Given the description of an element on the screen output the (x, y) to click on. 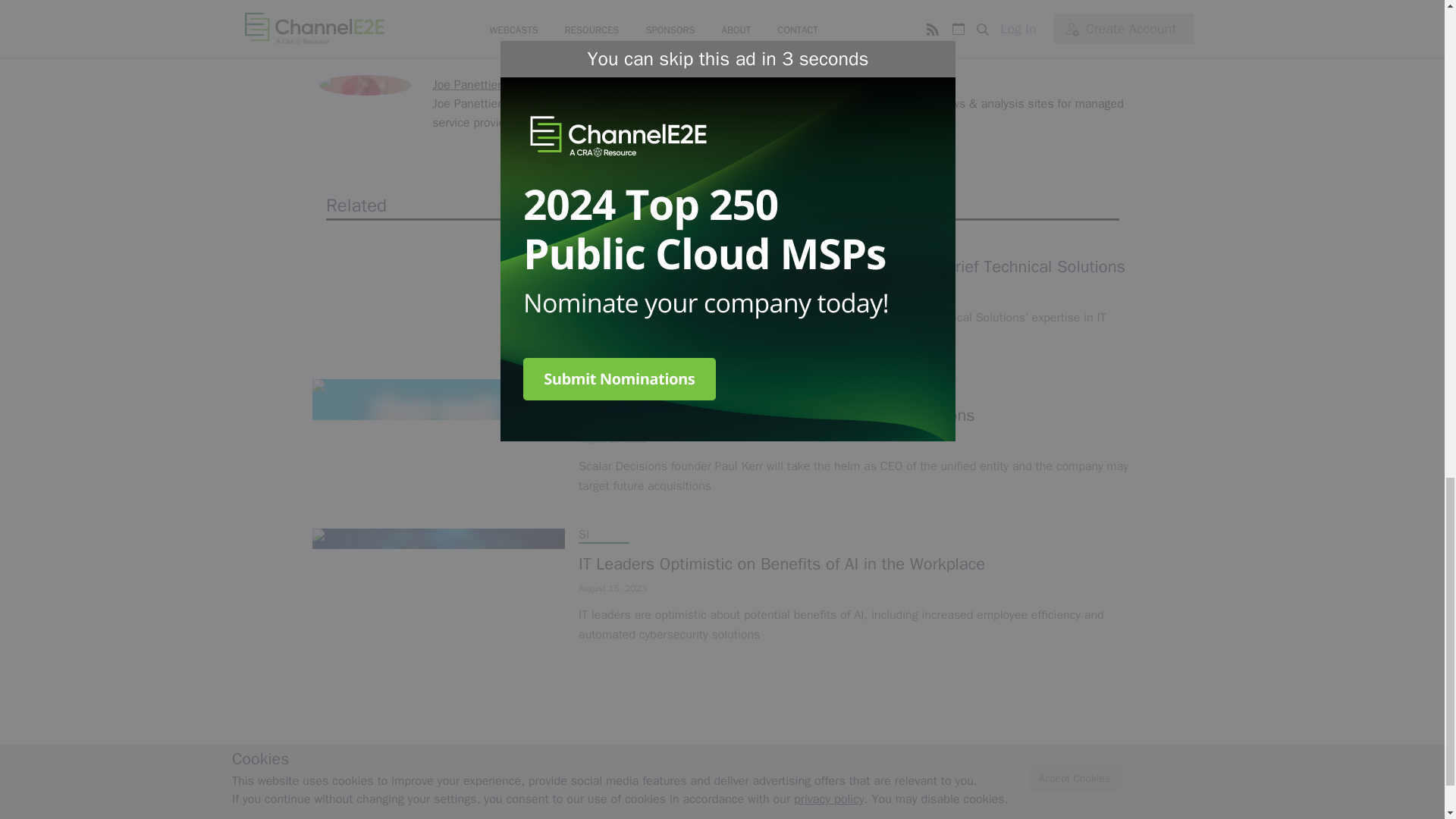
Joe Panettieri (467, 84)
Gallant Capital Partners Unifies DynTek and rSolutions (855, 415)
Accenture has acquired seven Salesforce partners (723, 21)
MERGERS AND ACQUISITIONS (658, 385)
IT Leaders Optimistic on Benefits of AI in the Workplace (855, 564)
MERGERS AND ACQUISITIONS (658, 237)
